Given the description of an element on the screen output the (x, y) to click on. 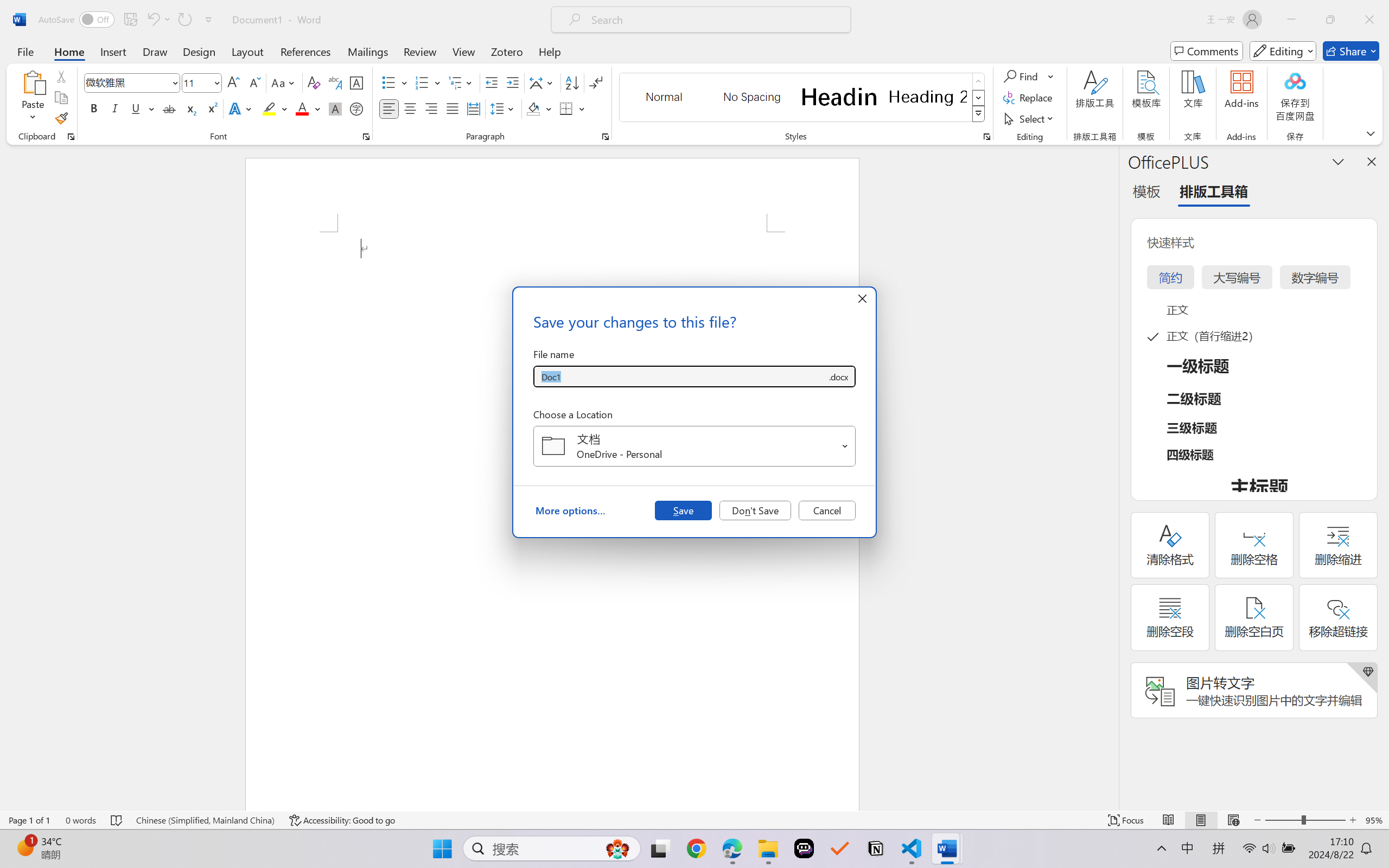
Don't Save (755, 509)
Zoom 95% (1374, 819)
